Given the description of an element on the screen output the (x, y) to click on. 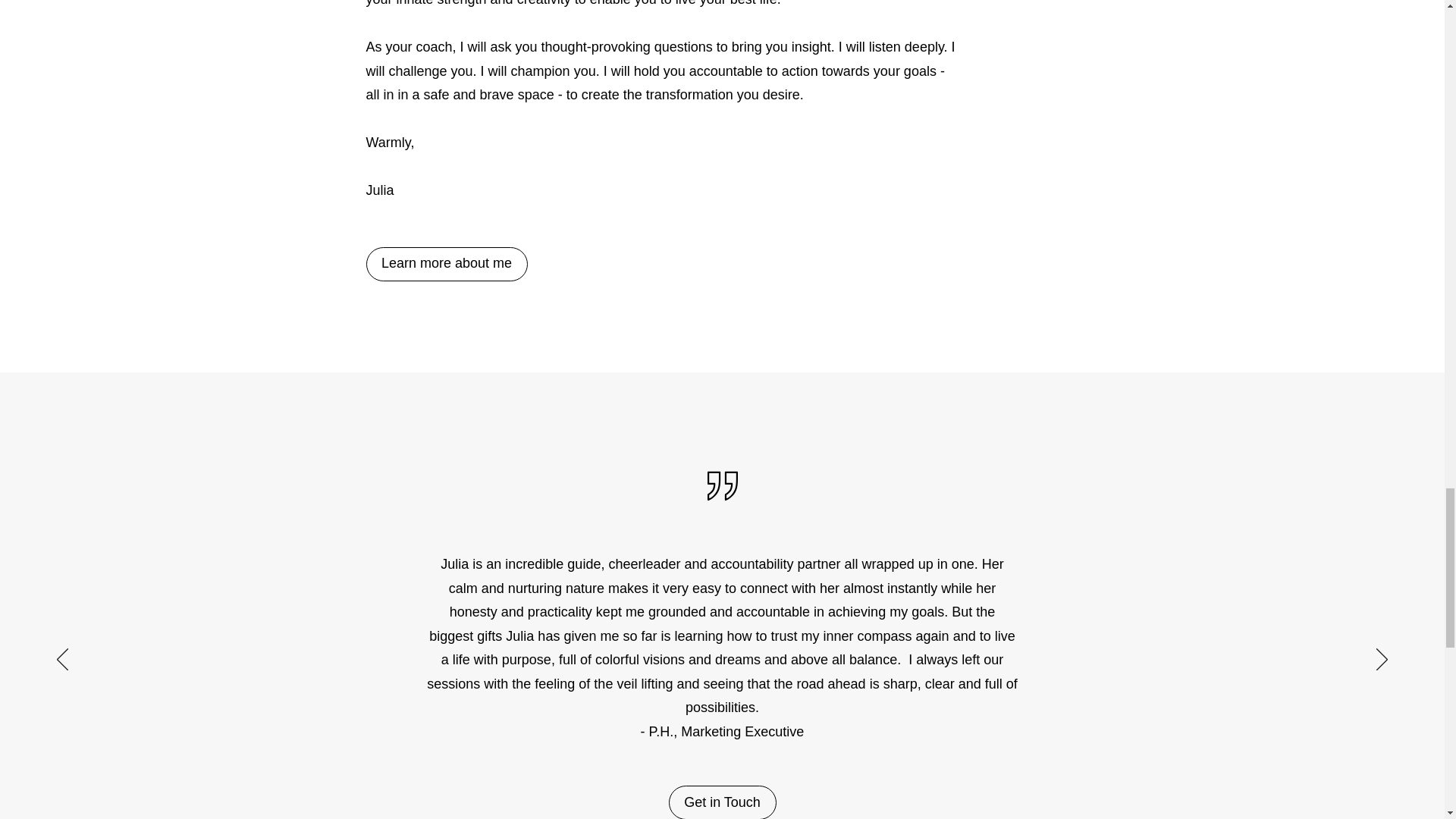
Learn more about me (446, 264)
